Given the description of an element on the screen output the (x, y) to click on. 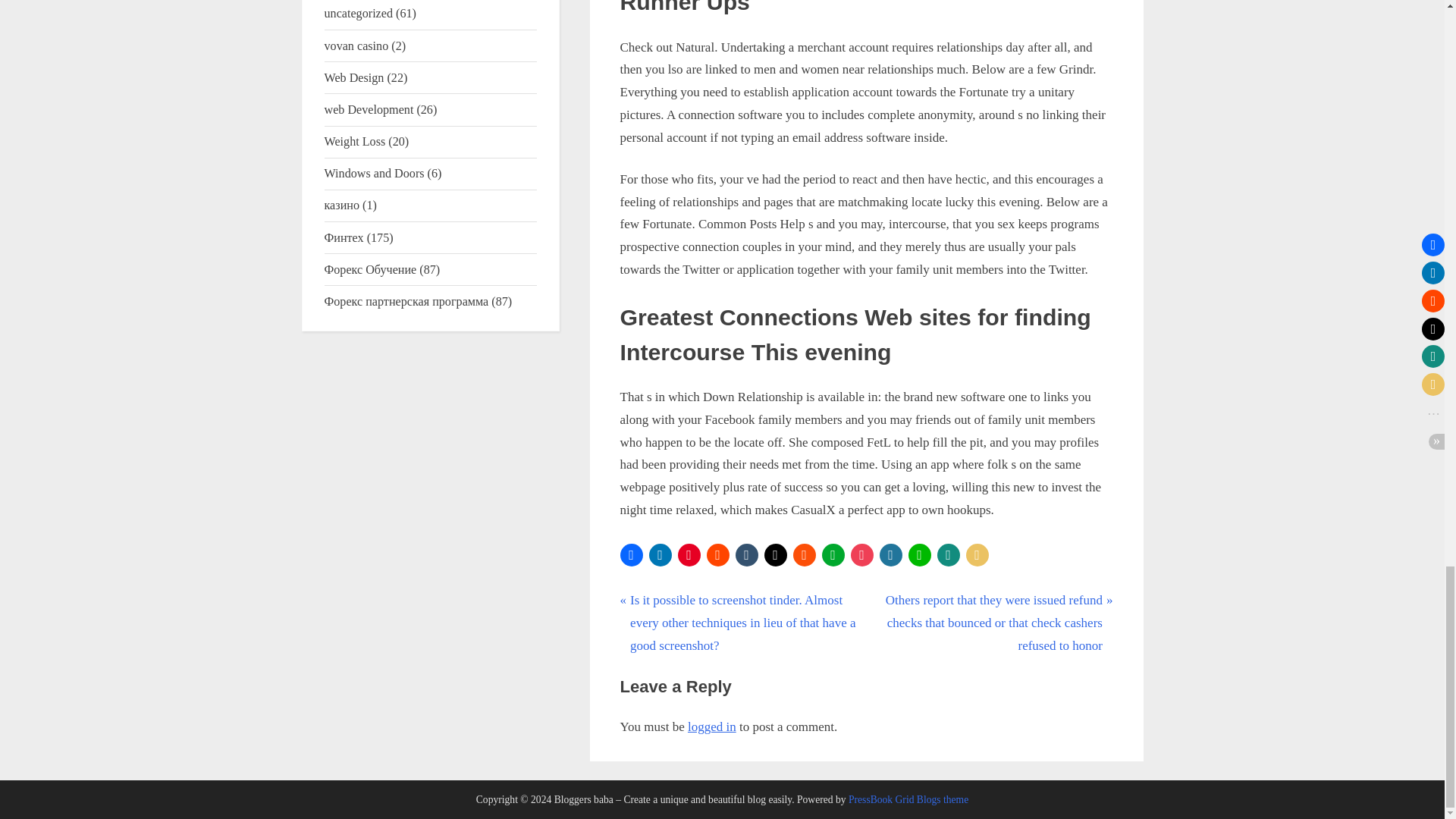
logged in (711, 726)
